Given the description of an element on the screen output the (x, y) to click on. 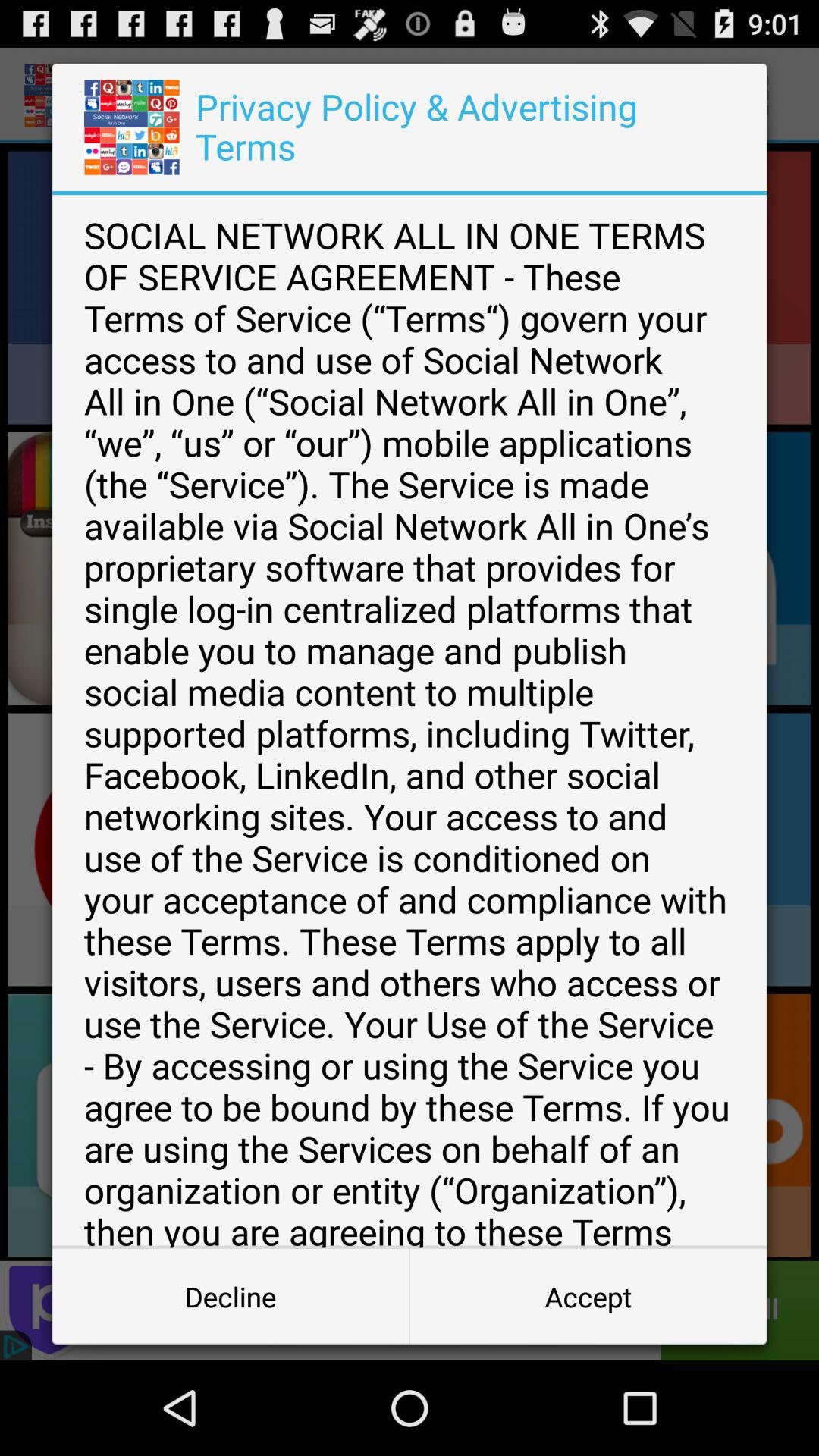
tap decline button (230, 1296)
